Given the description of an element on the screen output the (x, y) to click on. 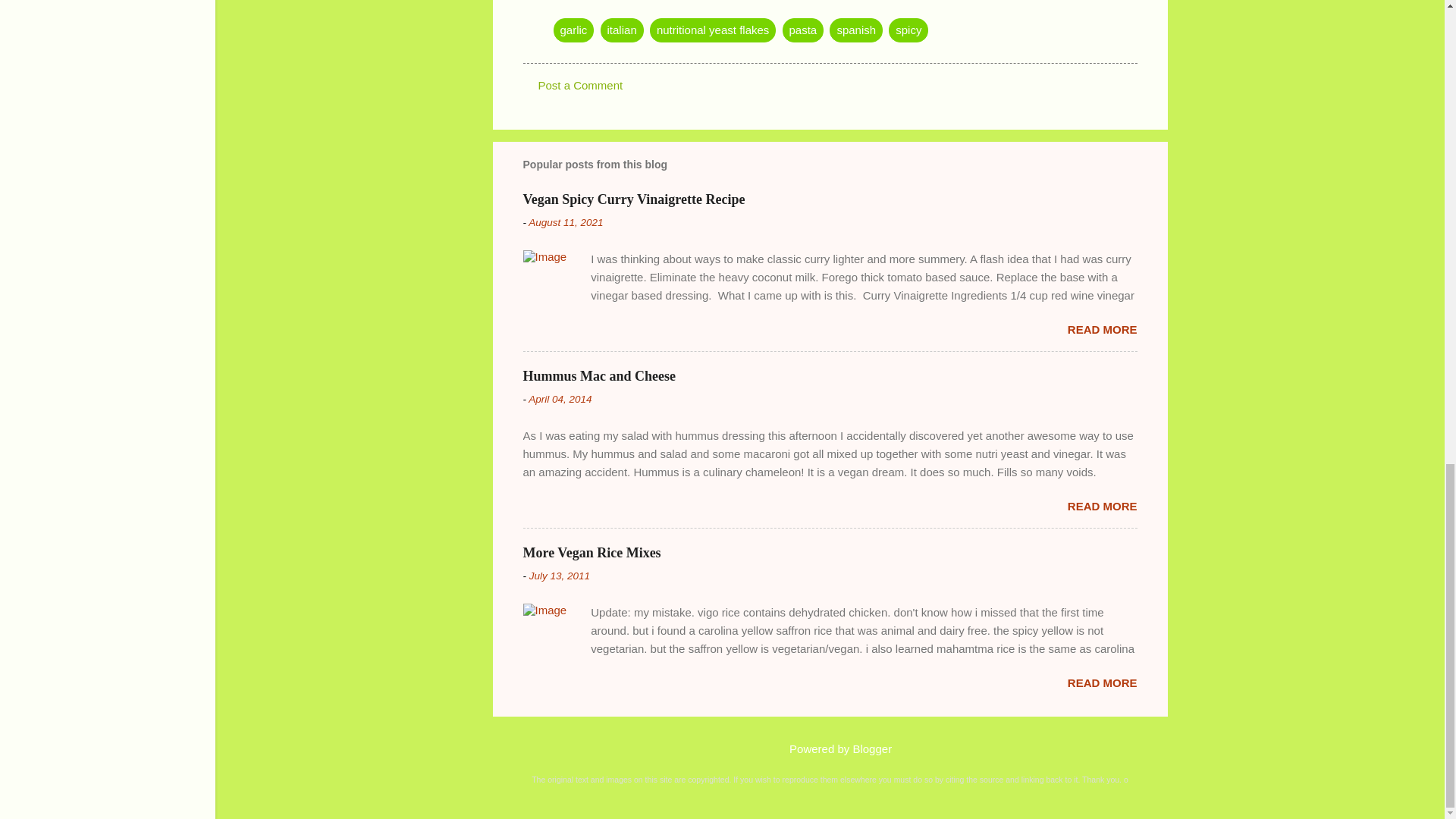
permanent link (565, 222)
pasta (803, 30)
April 04, 2014 (559, 398)
Email Post (562, 2)
READ MORE (1102, 505)
July 13, 2011 (559, 575)
READ MORE (1102, 682)
garlic (573, 30)
August 11, 2021 (565, 222)
spicy (908, 30)
More Vegan Rice Mixes (591, 552)
Vegan Spicy Curry Vinaigrette Recipe (633, 199)
READ MORE (1102, 328)
Hummus Mac and Cheese (599, 376)
nutritional yeast flakes (712, 30)
